Given the description of an element on the screen output the (x, y) to click on. 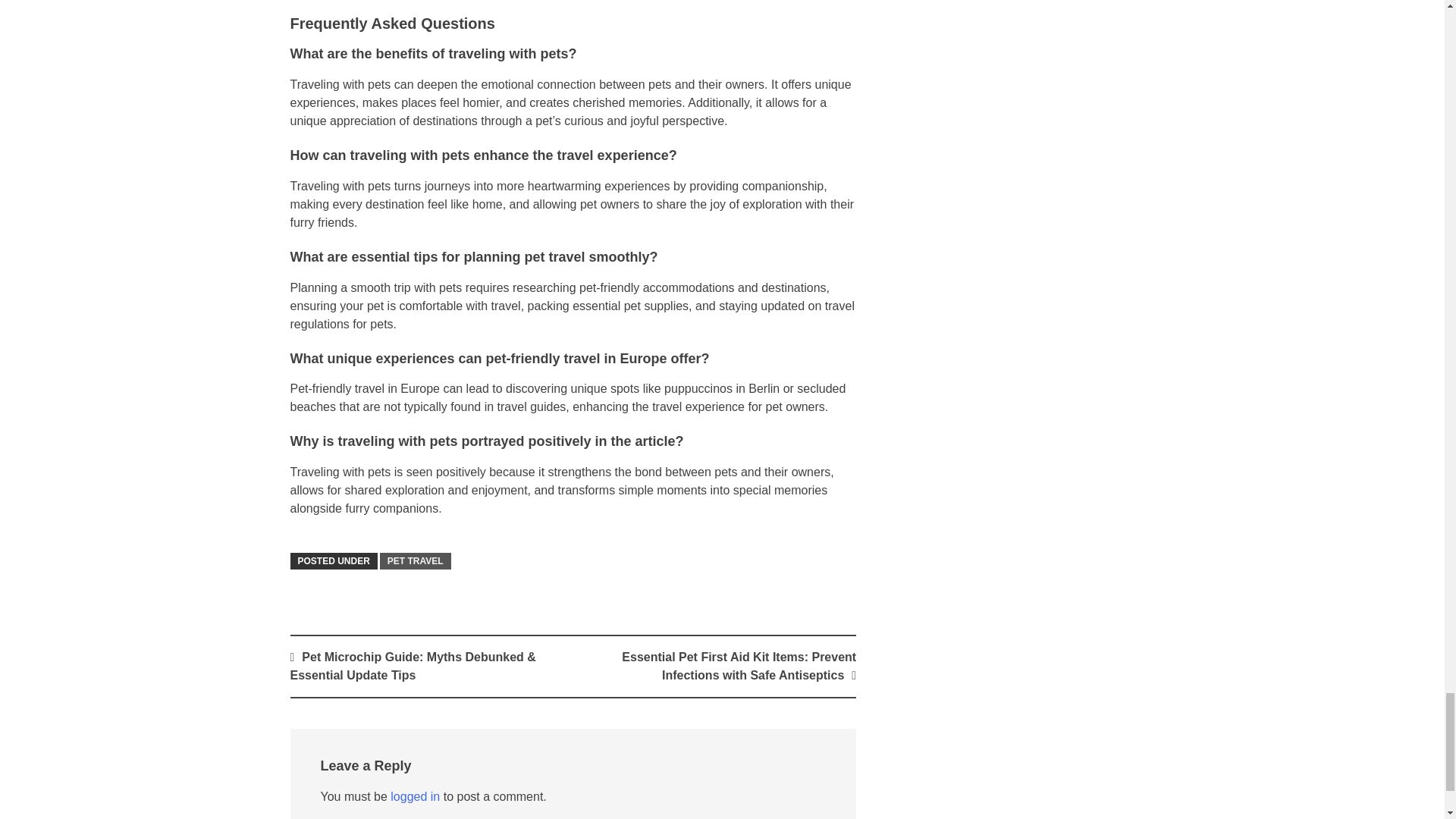
logged in (414, 796)
PET TRAVEL (415, 560)
